Given the description of an element on the screen output the (x, y) to click on. 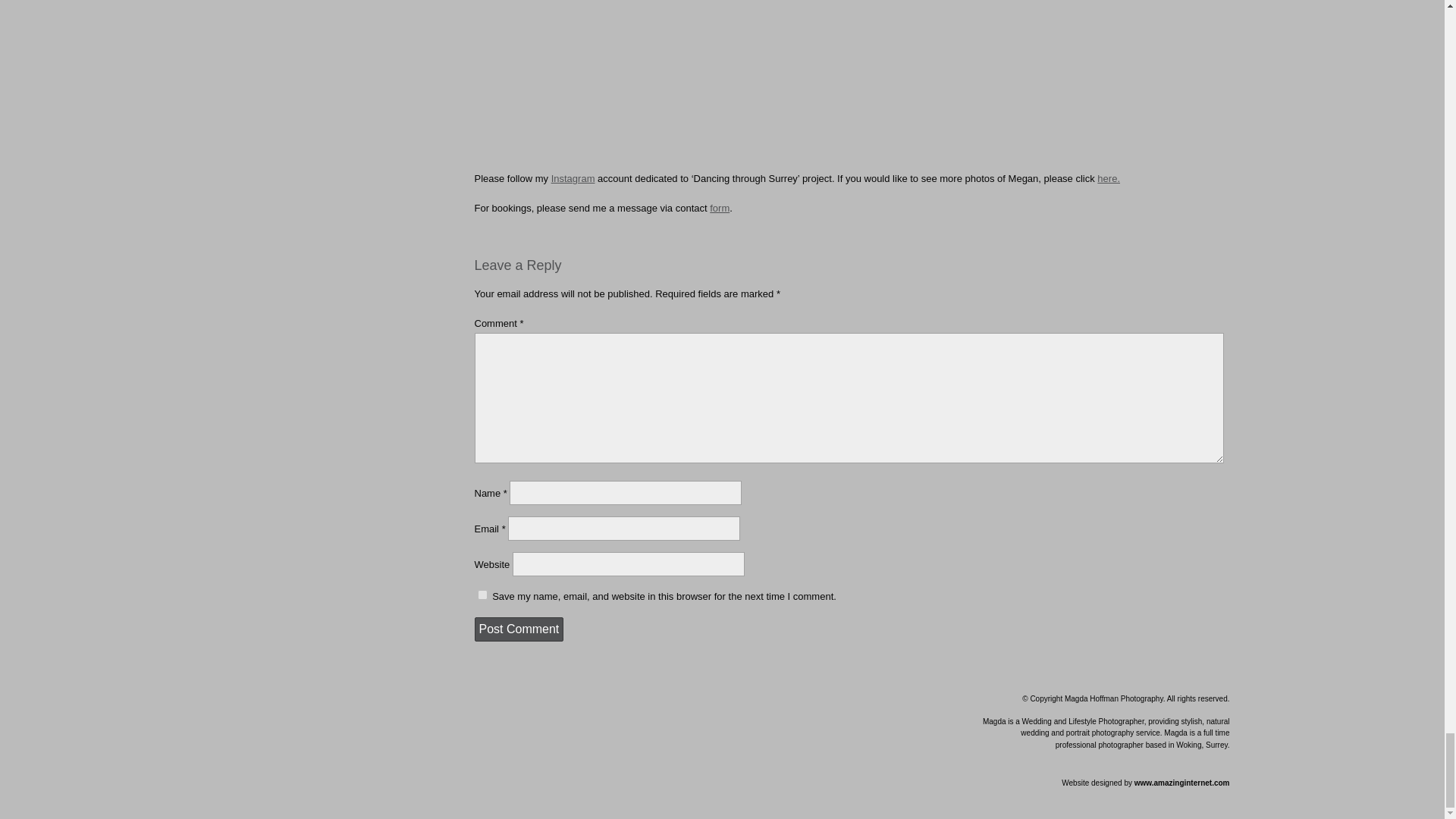
Post Comment (519, 629)
yes (482, 594)
